Given the description of an element on the screen output the (x, y) to click on. 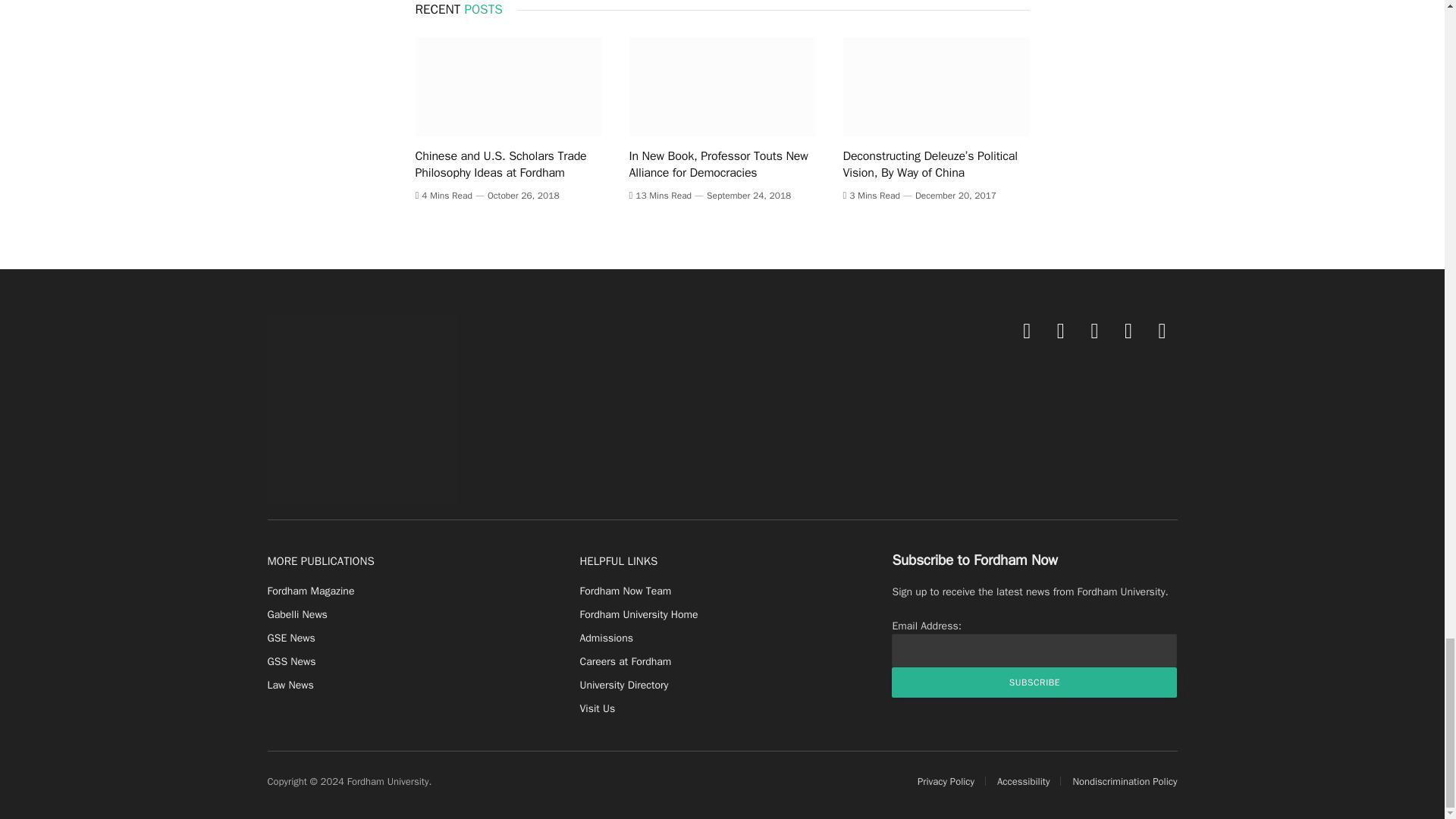
Subscribe (1033, 682)
In New Book, Professor Touts New Alliance for Democracies (721, 86)
Chinese and U.S. Scholars Trade Philosophy Ideas at Fordham (508, 86)
